Given the description of an element on the screen output the (x, y) to click on. 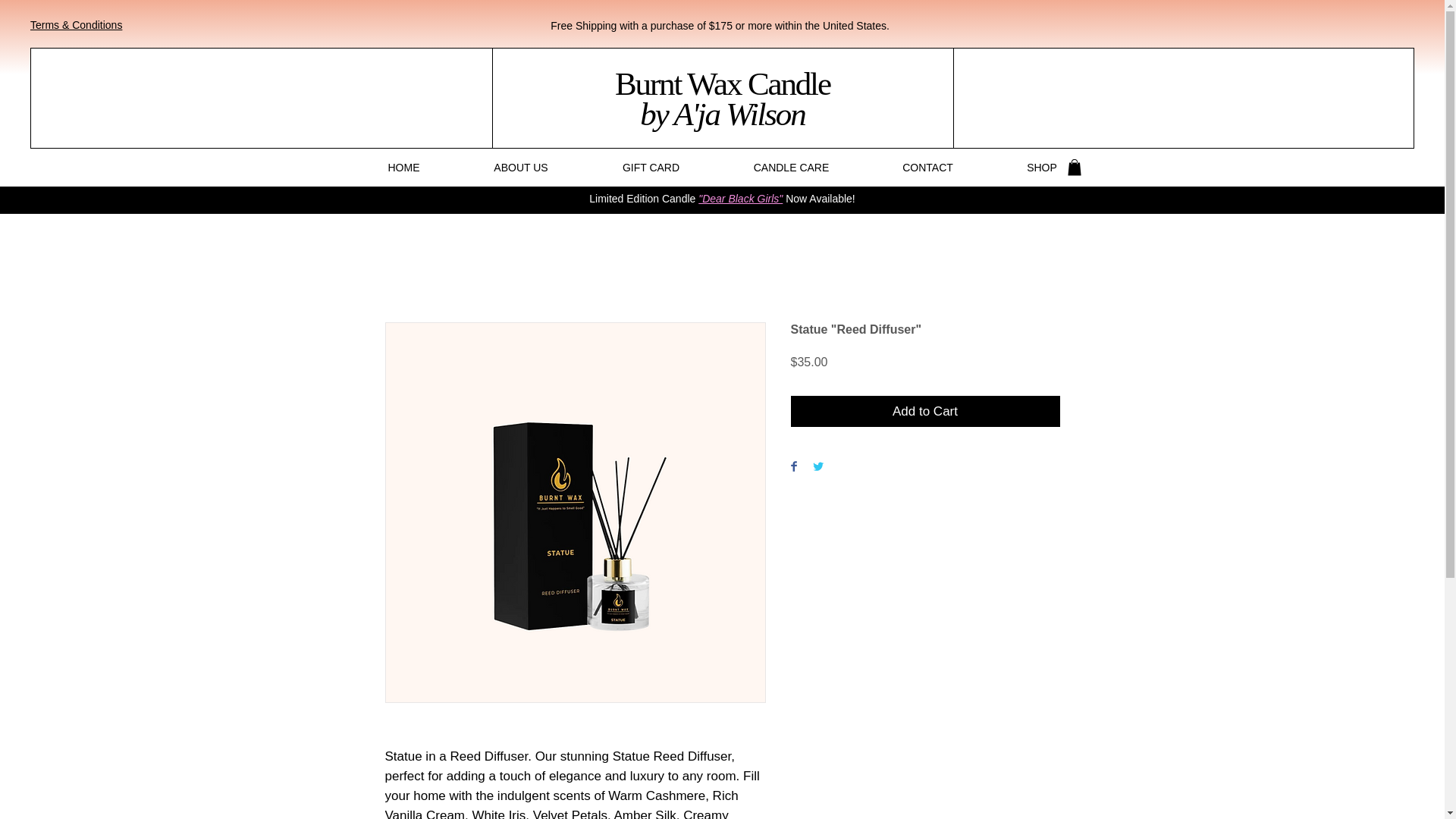
HOME (403, 167)
CANDLE CARE (791, 167)
"Dear Black Girls"  (742, 198)
Add to Cart (924, 411)
Limited Edition Candle  (643, 198)
SHOP (1042, 167)
CONTACT (928, 167)
GIFT CARD (651, 167)
ABOUT US (521, 167)
by A'ja Wilson (722, 113)
